Given the description of an element on the screen output the (x, y) to click on. 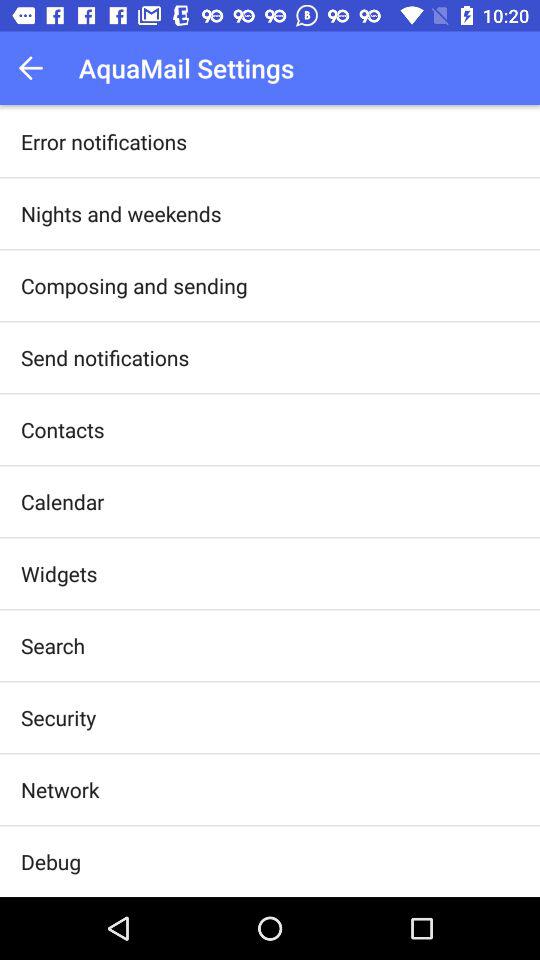
click the icon below the error notifications (121, 213)
